Given the description of an element on the screen output the (x, y) to click on. 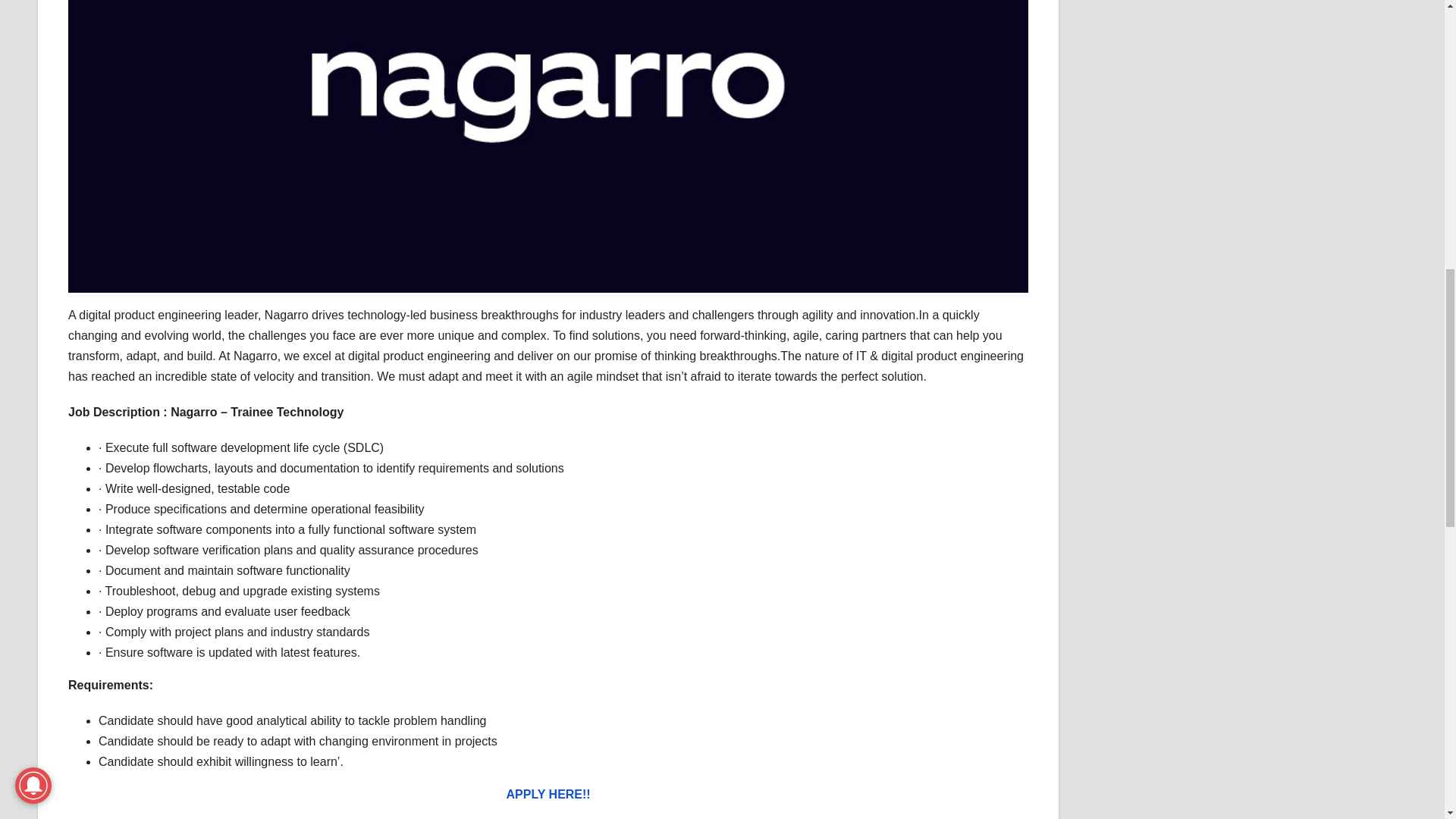
Advertisement (1243, 39)
APPLY HERE!! (548, 793)
